Given the description of an element on the screen output the (x, y) to click on. 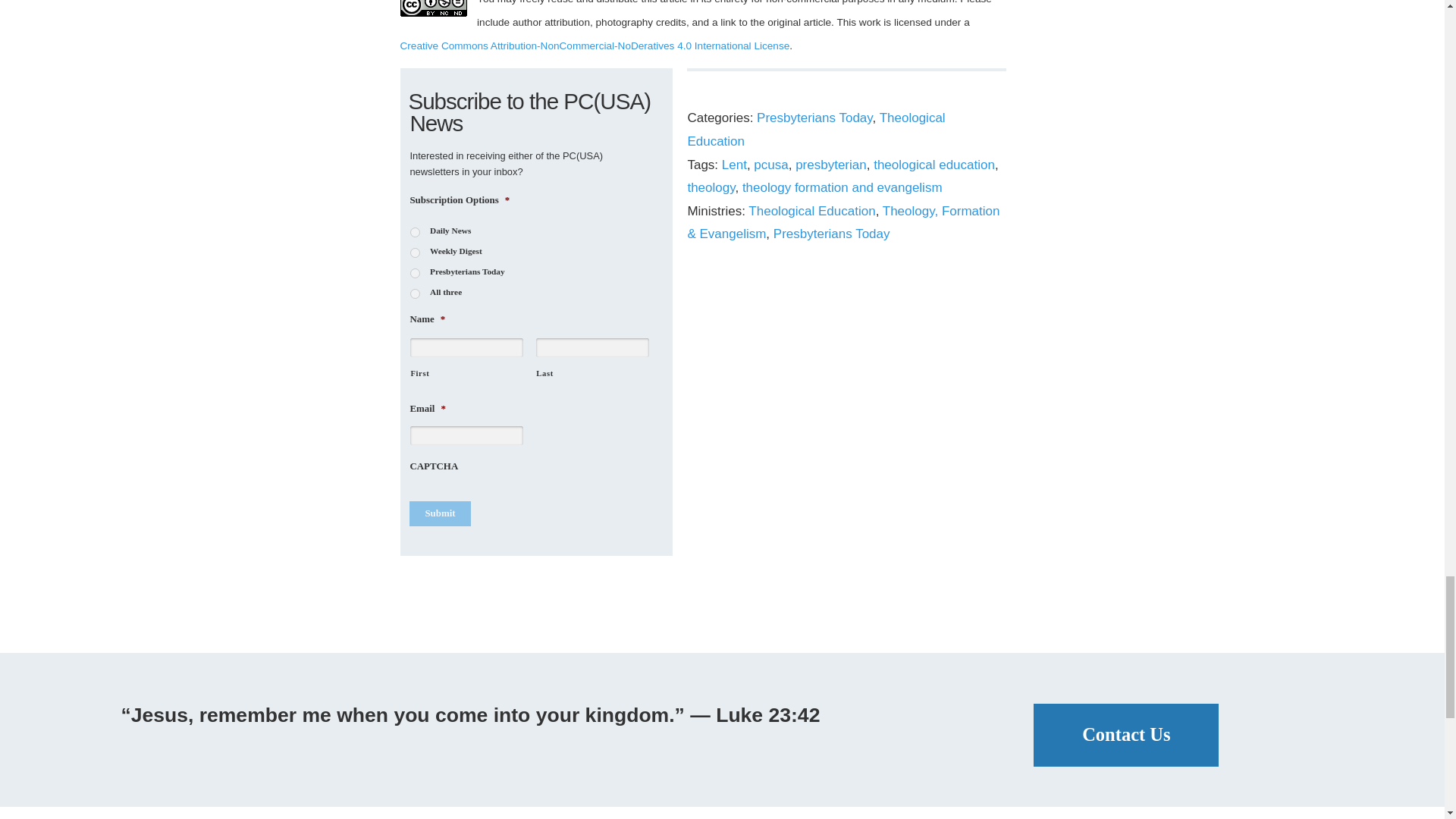
Daily News (415, 232)
Weekly Digest (415, 252)
Presbyterians Today (415, 273)
All three (415, 293)
Submit (439, 513)
